Given the description of an element on the screen output the (x, y) to click on. 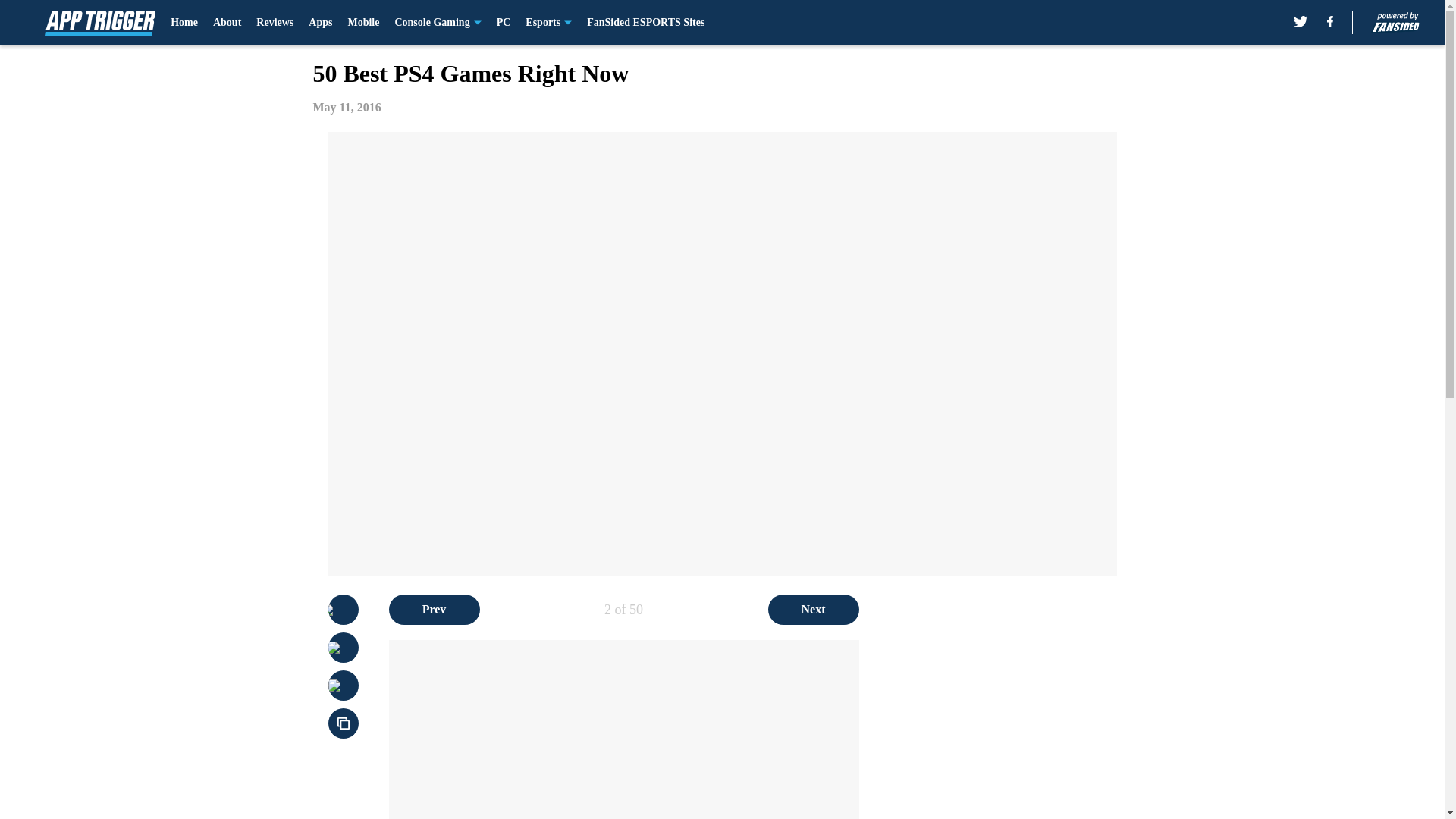
Next (813, 609)
PC (503, 22)
Apps (319, 22)
Reviews (275, 22)
Mobile (362, 22)
Prev (433, 609)
FanSided ESPORTS Sites (645, 22)
About (226, 22)
Home (184, 22)
